Given the description of an element on the screen output the (x, y) to click on. 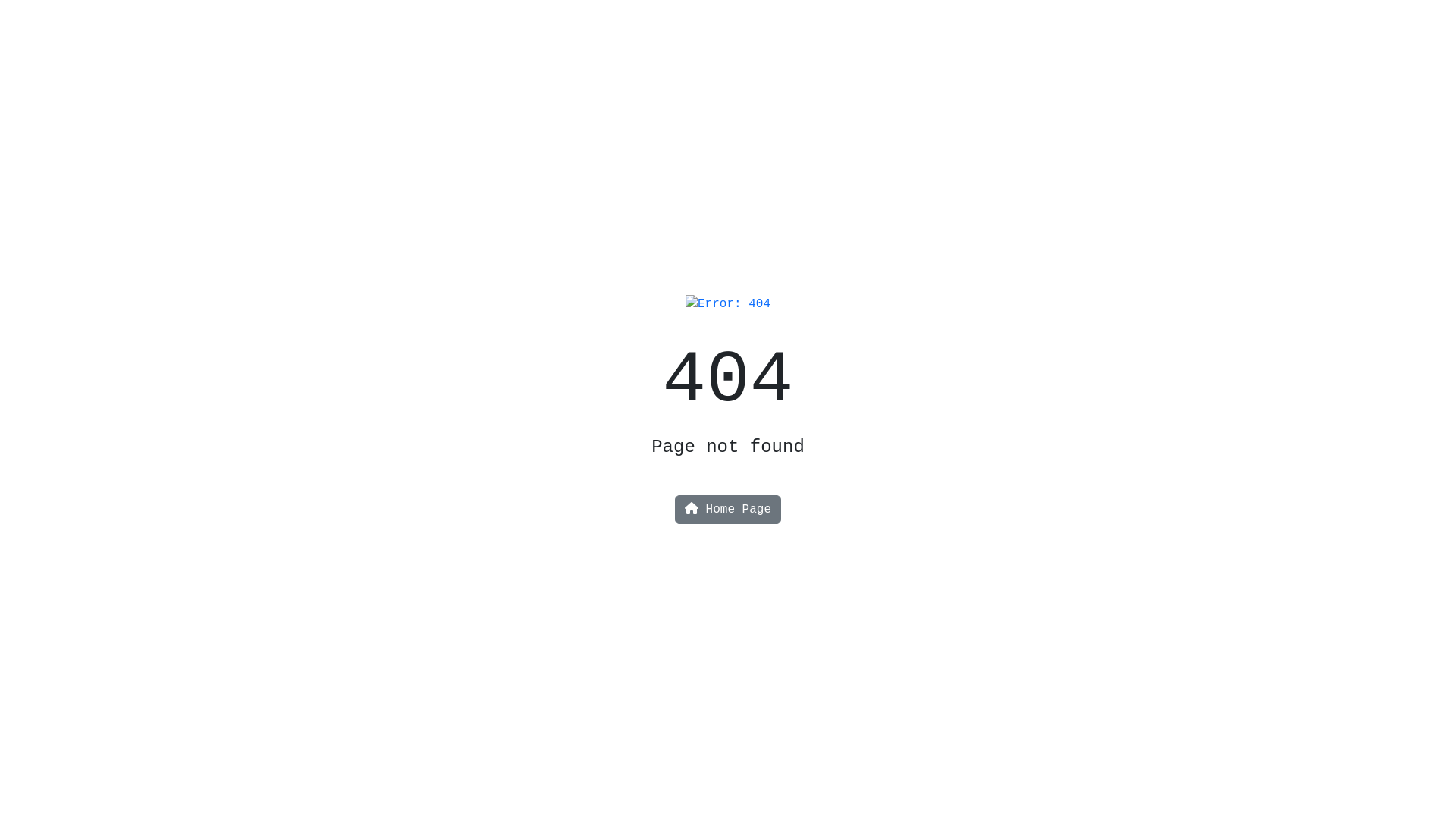
Home Page Element type: text (727, 509)
